Given the description of an element on the screen output the (x, y) to click on. 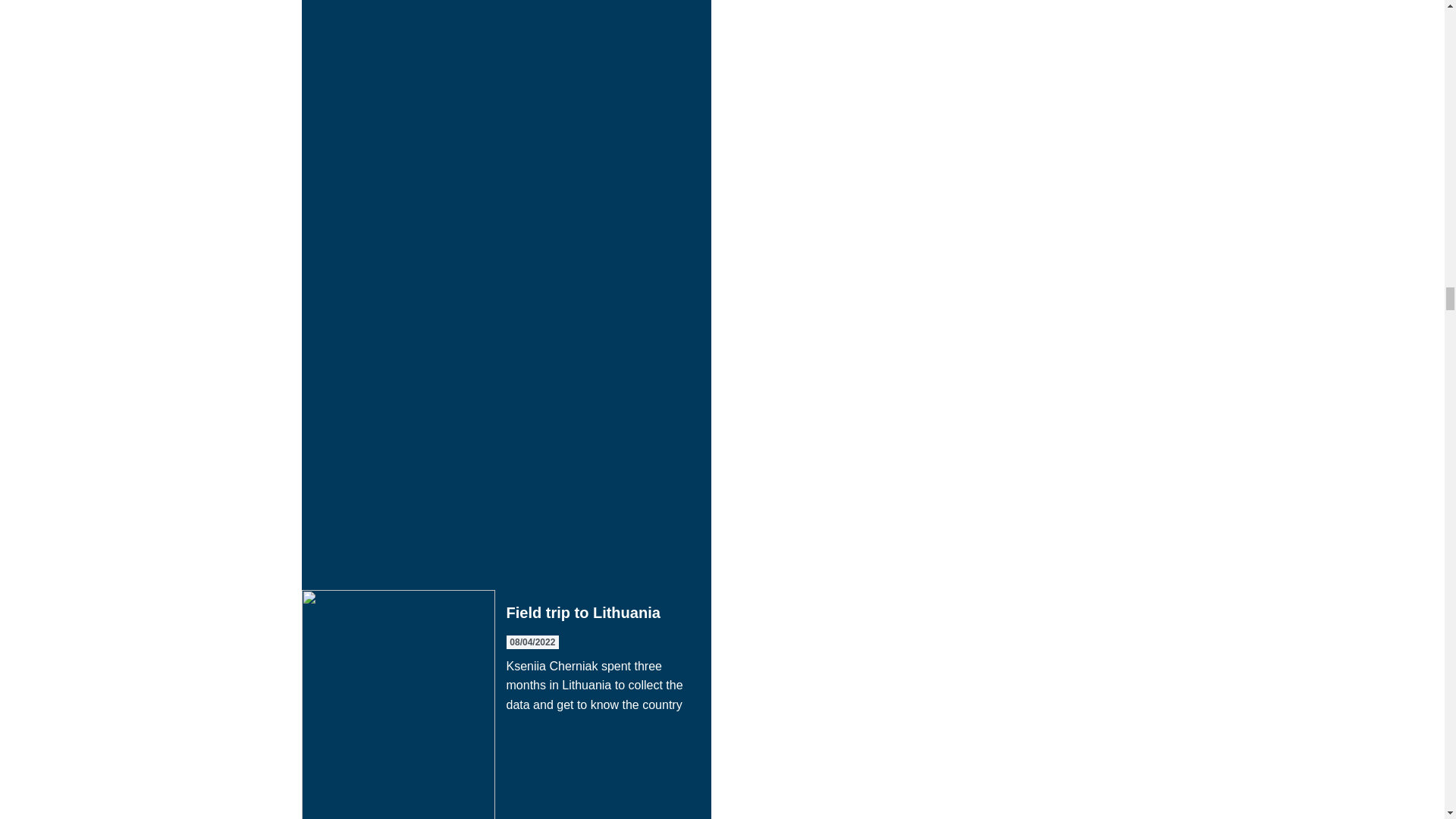
Field trip to Lithuania (506, 704)
